Given the description of an element on the screen output the (x, y) to click on. 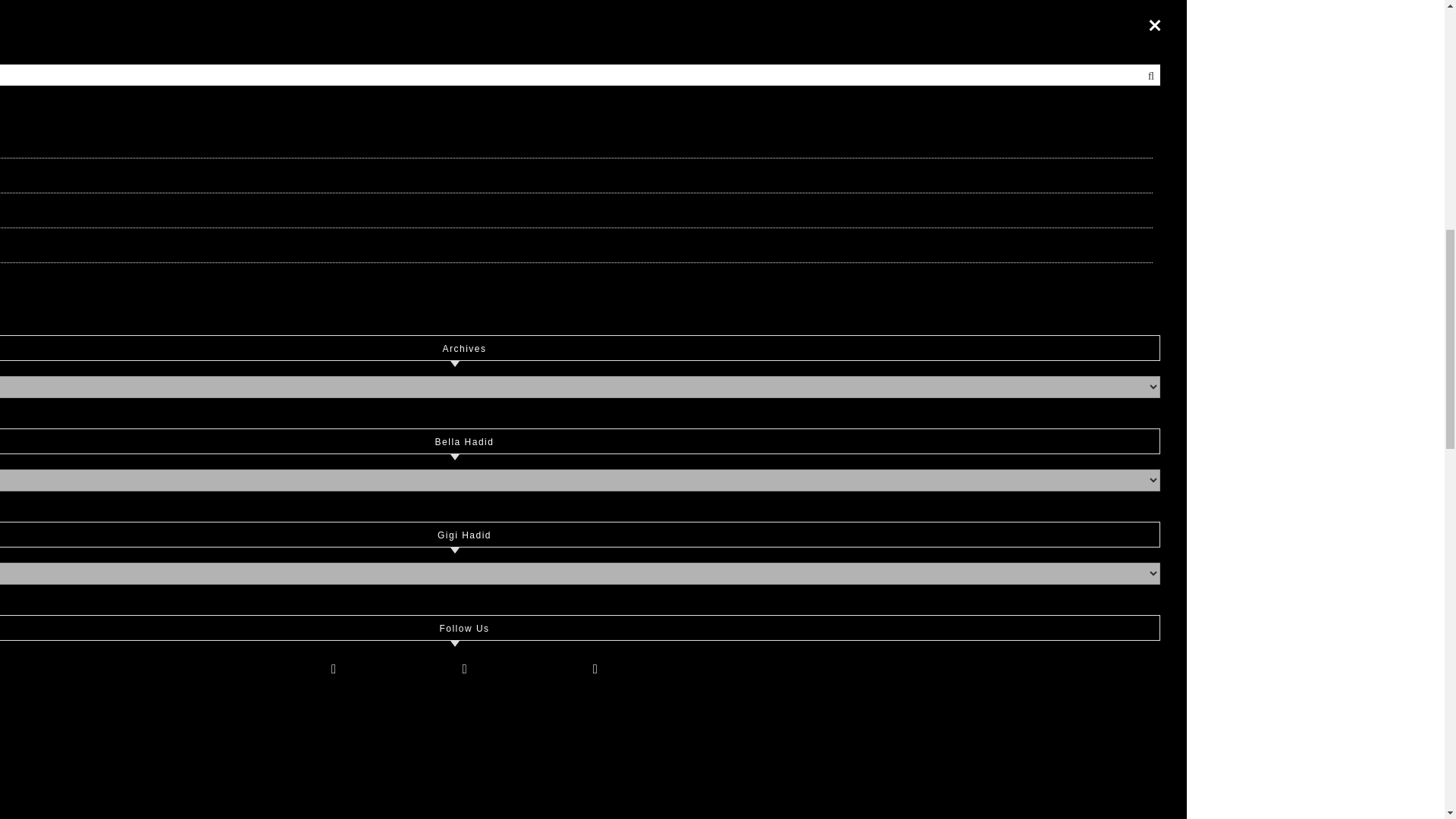
SOLD OUT (838, 644)
